Given the description of an element on the screen output the (x, y) to click on. 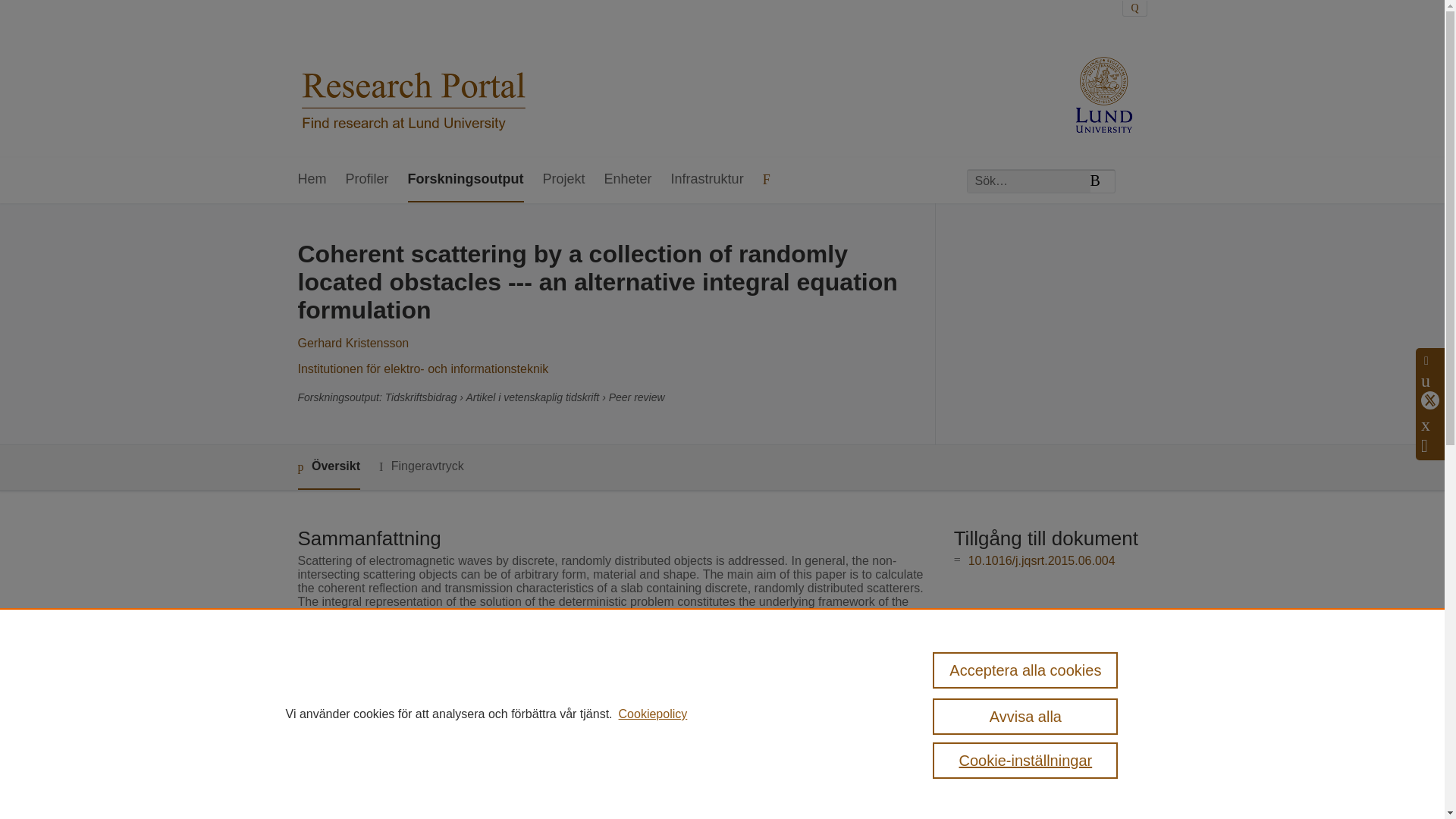
Profiler (367, 180)
Forskningsoutput (465, 180)
Fingeravtryck (421, 466)
Infrastruktur (707, 180)
Projekt (564, 180)
Enheter (628, 180)
Lunds universitet Hem (412, 78)
Gerhard Kristensson (353, 342)
